Given the description of an element on the screen output the (x, y) to click on. 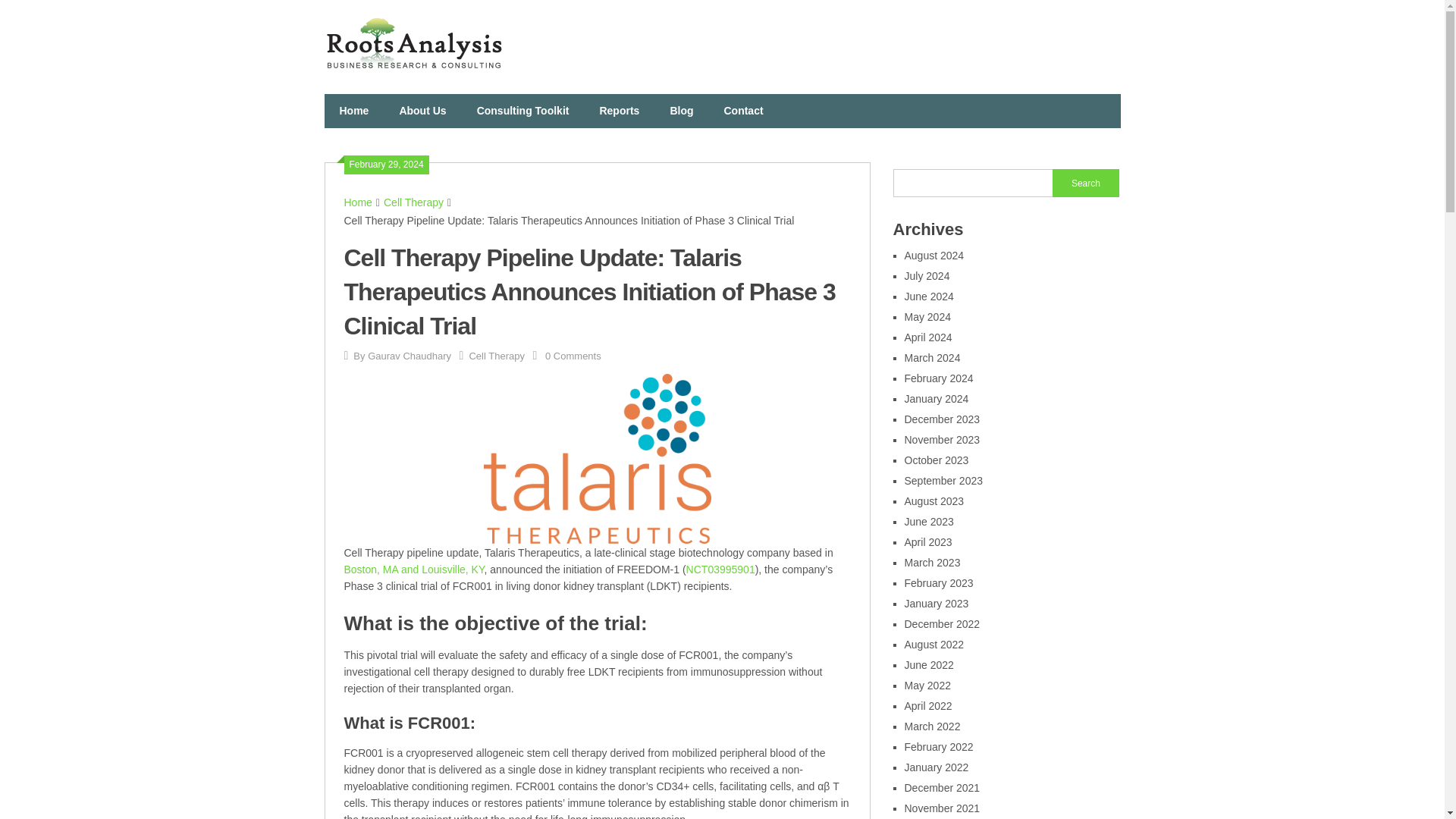
Posts by Gaurav Chaudhary (409, 355)
May 2024 (927, 316)
June 2023 (928, 521)
About Us (422, 110)
January 2024 (936, 398)
Reports (618, 110)
August 2024 (933, 255)
Consulting Toolkit (523, 110)
Contact (742, 110)
NCT03995901 (720, 569)
